Given the description of an element on the screen output the (x, y) to click on. 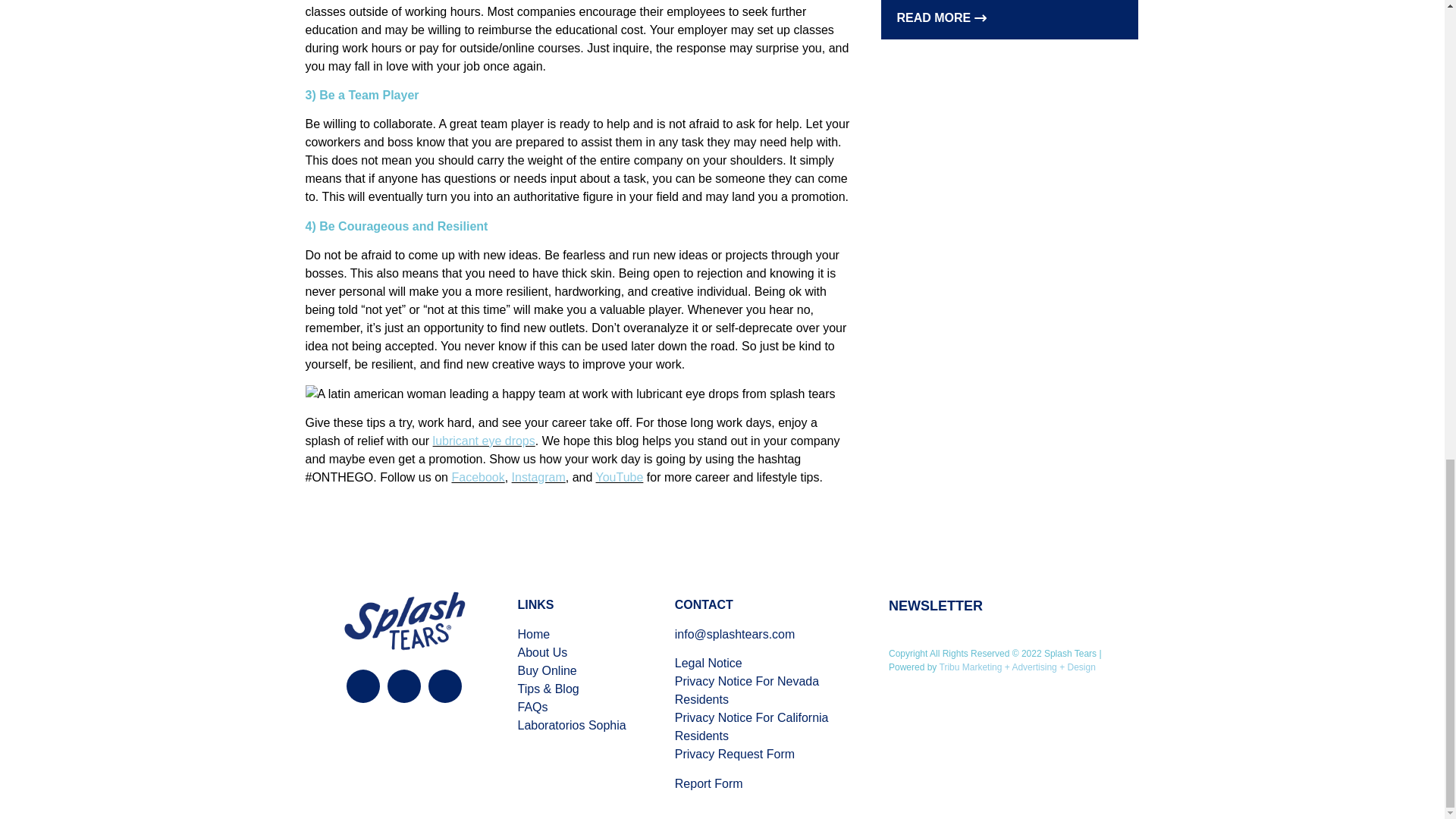
About Us (541, 652)
Facebook (477, 477)
Privacy Notice For California Residents (751, 726)
Laboratorios Sophia (571, 725)
Buy Online (546, 670)
Privacy Request Form (734, 753)
lubricant eye drops (483, 440)
Legal Notice (708, 662)
YouTube (619, 477)
Report Form (708, 783)
